Given the description of an element on the screen output the (x, y) to click on. 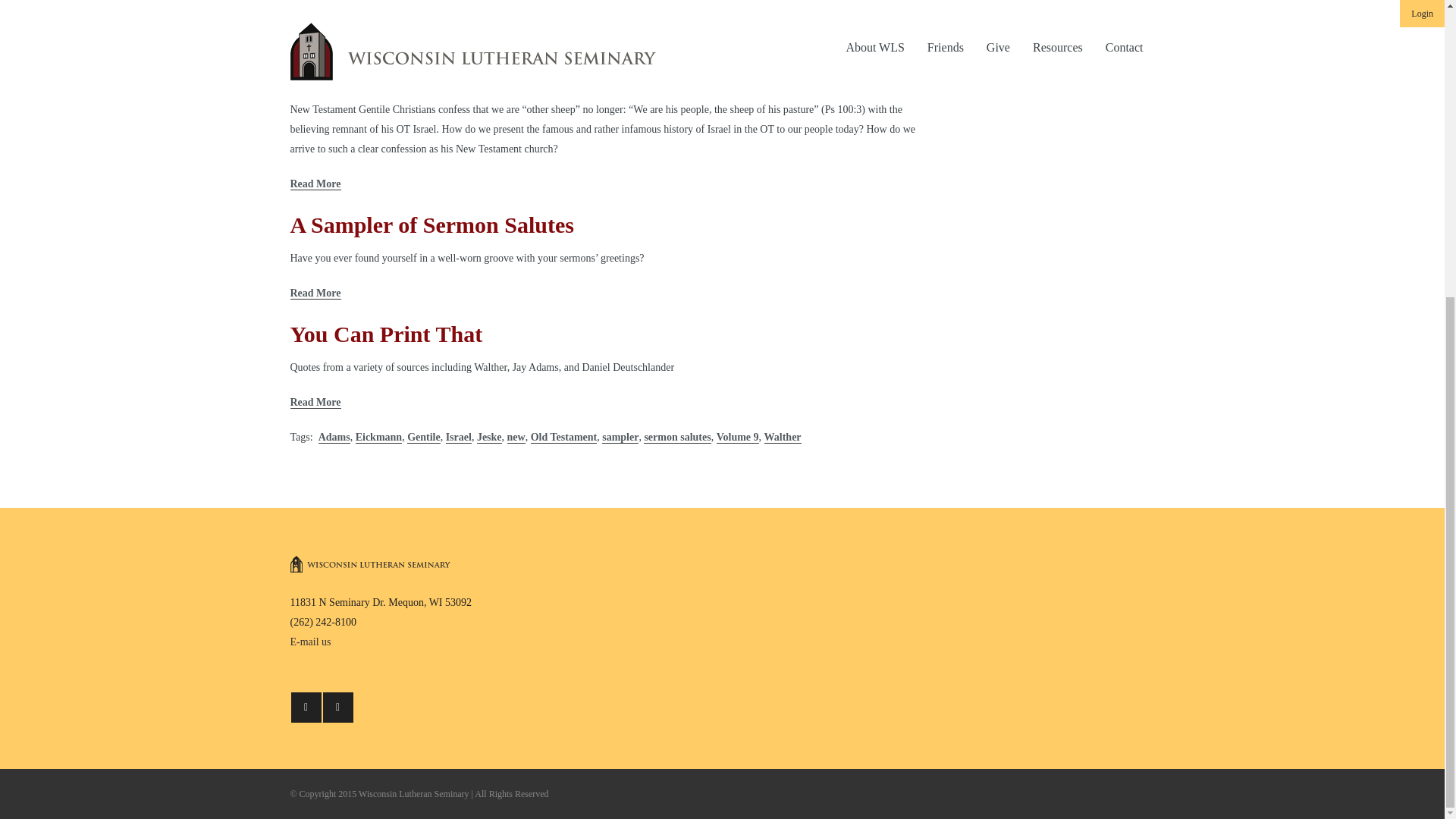
Submit (991, 2)
Facebook (306, 707)
Vimeo (338, 707)
